Given the description of an element on the screen output the (x, y) to click on. 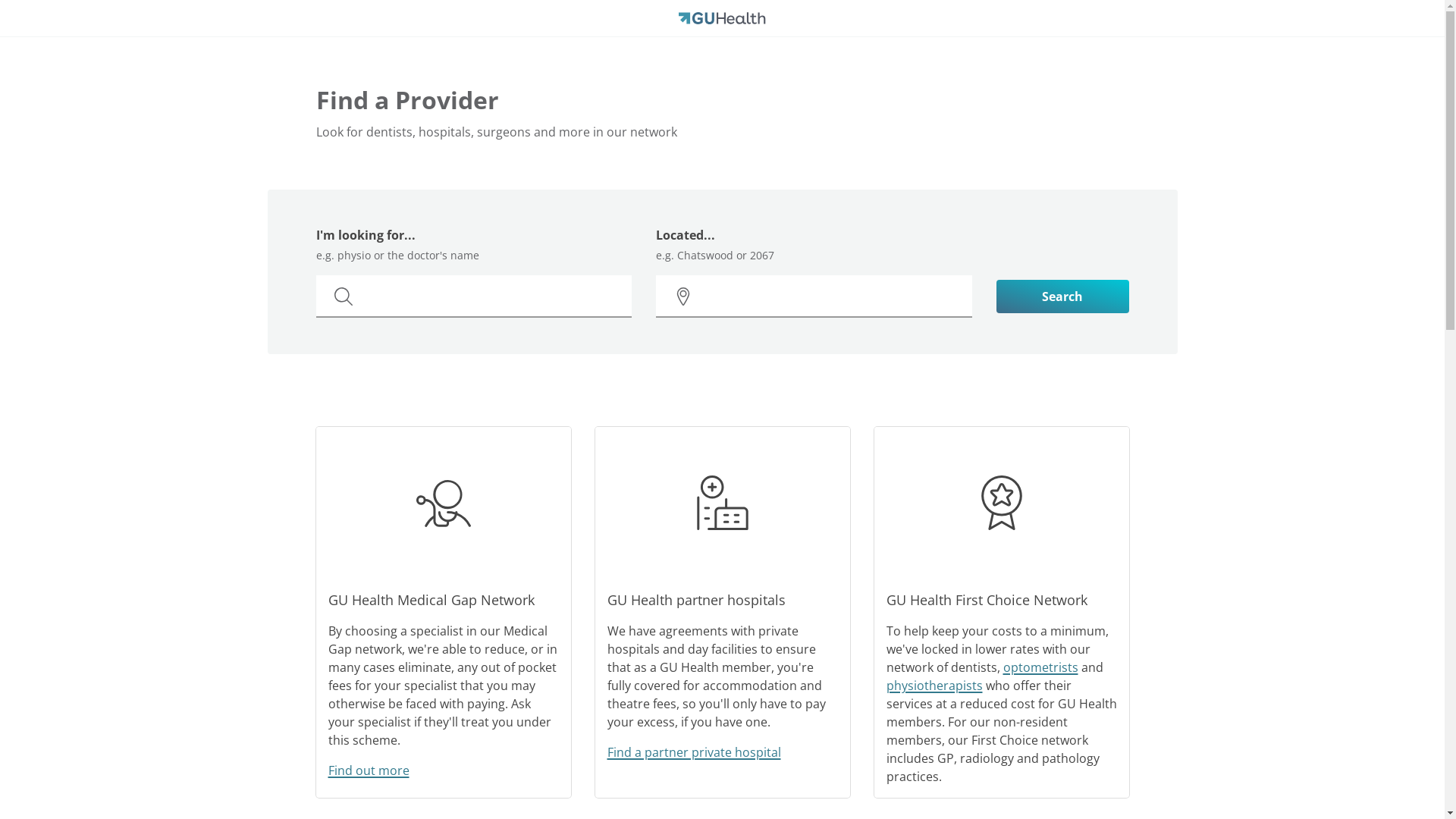
Search Element type: text (1062, 296)
Find out more Element type: text (367, 770)
optometrists Element type: text (1039, 666)
physiotherapists Element type: text (933, 685)
Find a partner private hospital Element type: text (693, 751)
